Given the description of an element on the screen output the (x, y) to click on. 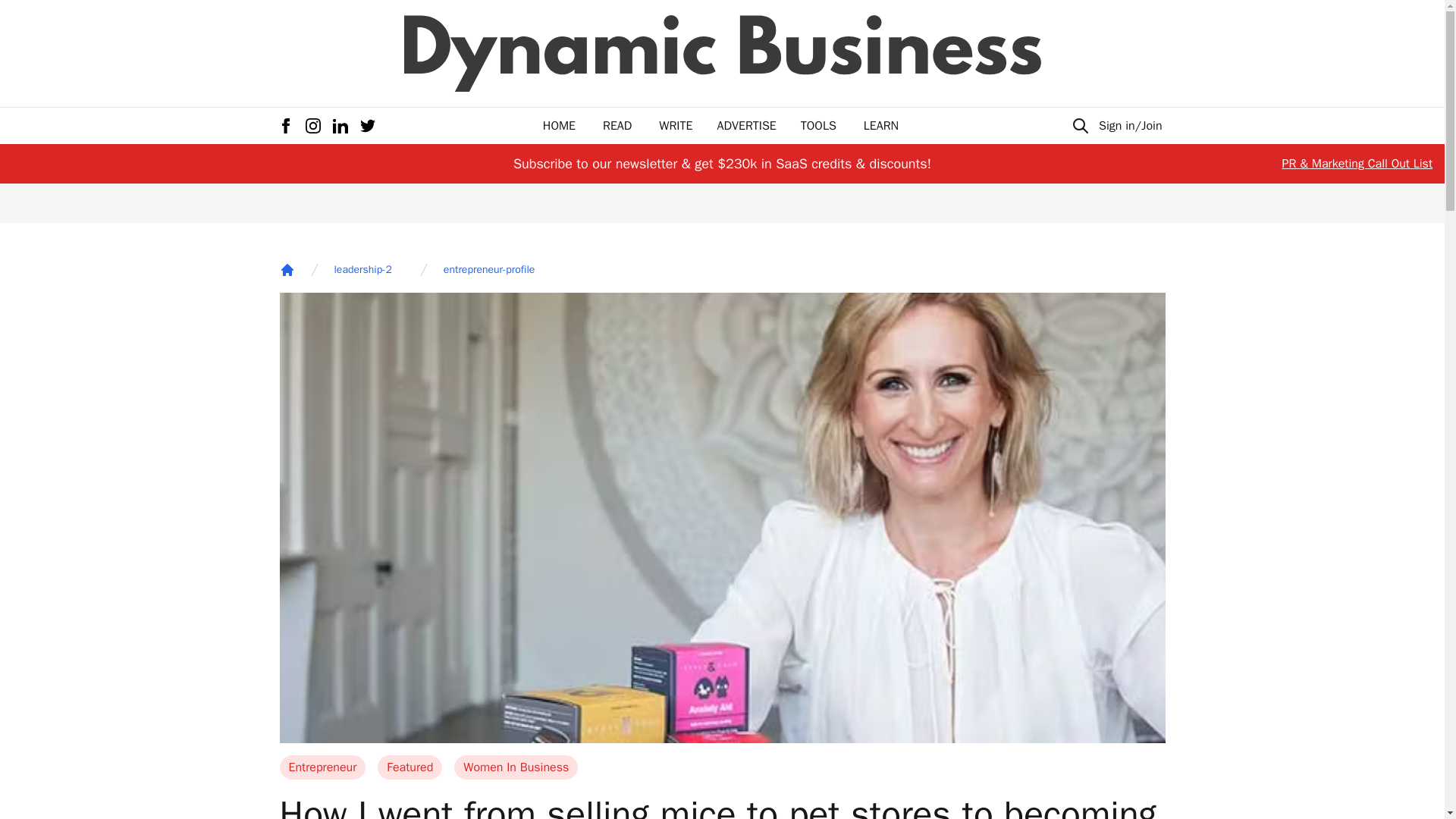
Featured (409, 767)
LEARN (880, 126)
TOOLS (817, 126)
Women In Business (516, 767)
ADVERTISE (746, 126)
leadership-2 (362, 269)
entrepreneur-profile (489, 269)
READ (616, 126)
Entrepreneur (322, 767)
HOME (559, 126)
Home (286, 269)
WRITE (676, 126)
